Given the description of an element on the screen output the (x, y) to click on. 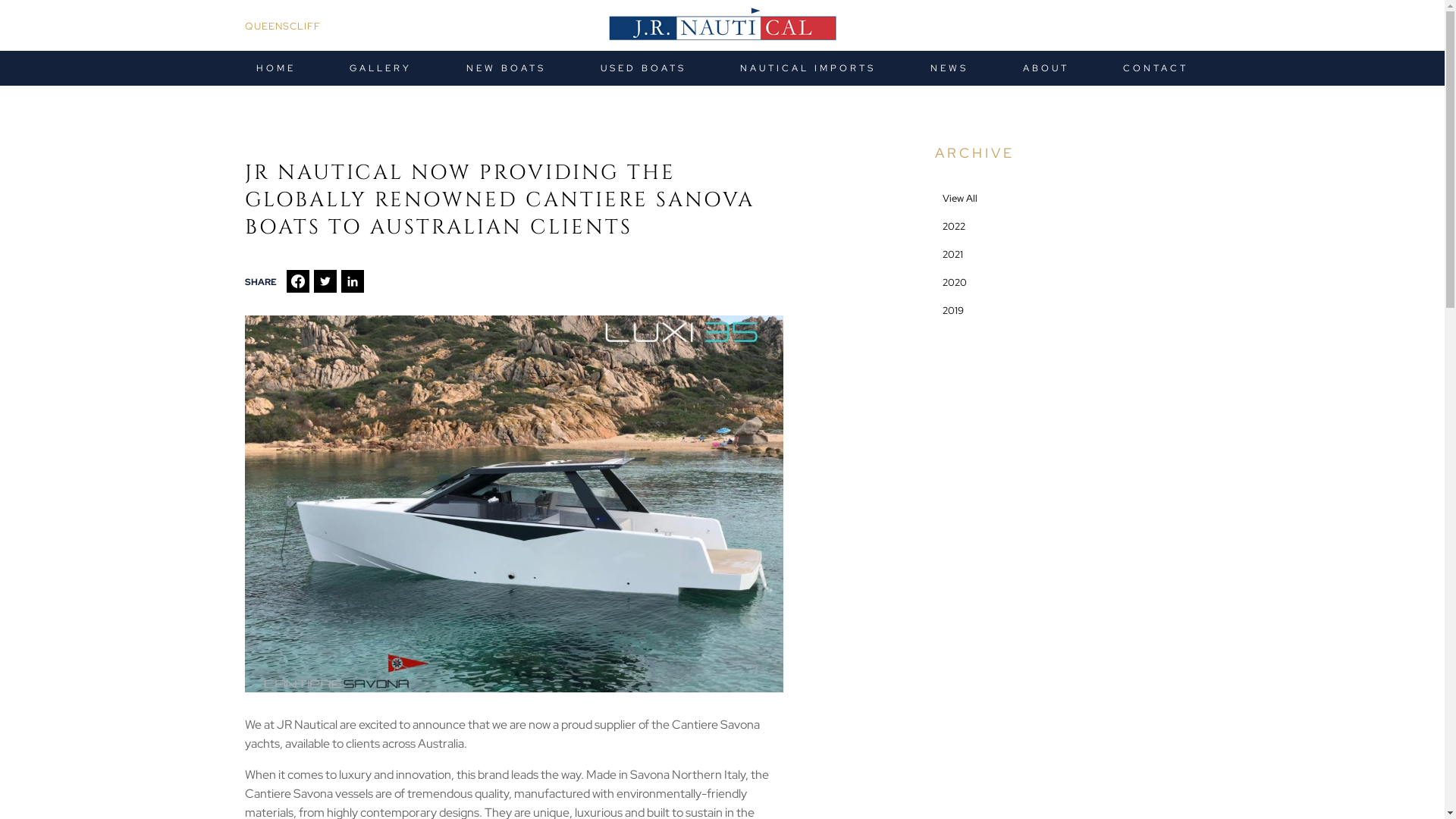
2019 Element type: text (1066, 310)
NEW BOATS Element type: text (506, 67)
NAUTICAL IMPORTS Element type: text (807, 67)
View All Element type: text (1066, 198)
USED BOATS Element type: text (643, 67)
ABOUT Element type: text (1045, 67)
CONTACT Element type: text (1155, 67)
NEWS Element type: text (949, 67)
GALLERY Element type: text (380, 67)
2022 Element type: text (1066, 226)
2021 Element type: text (1066, 254)
2020 Element type: text (1066, 282)
HOME Element type: text (275, 67)
